Given the description of an element on the screen output the (x, y) to click on. 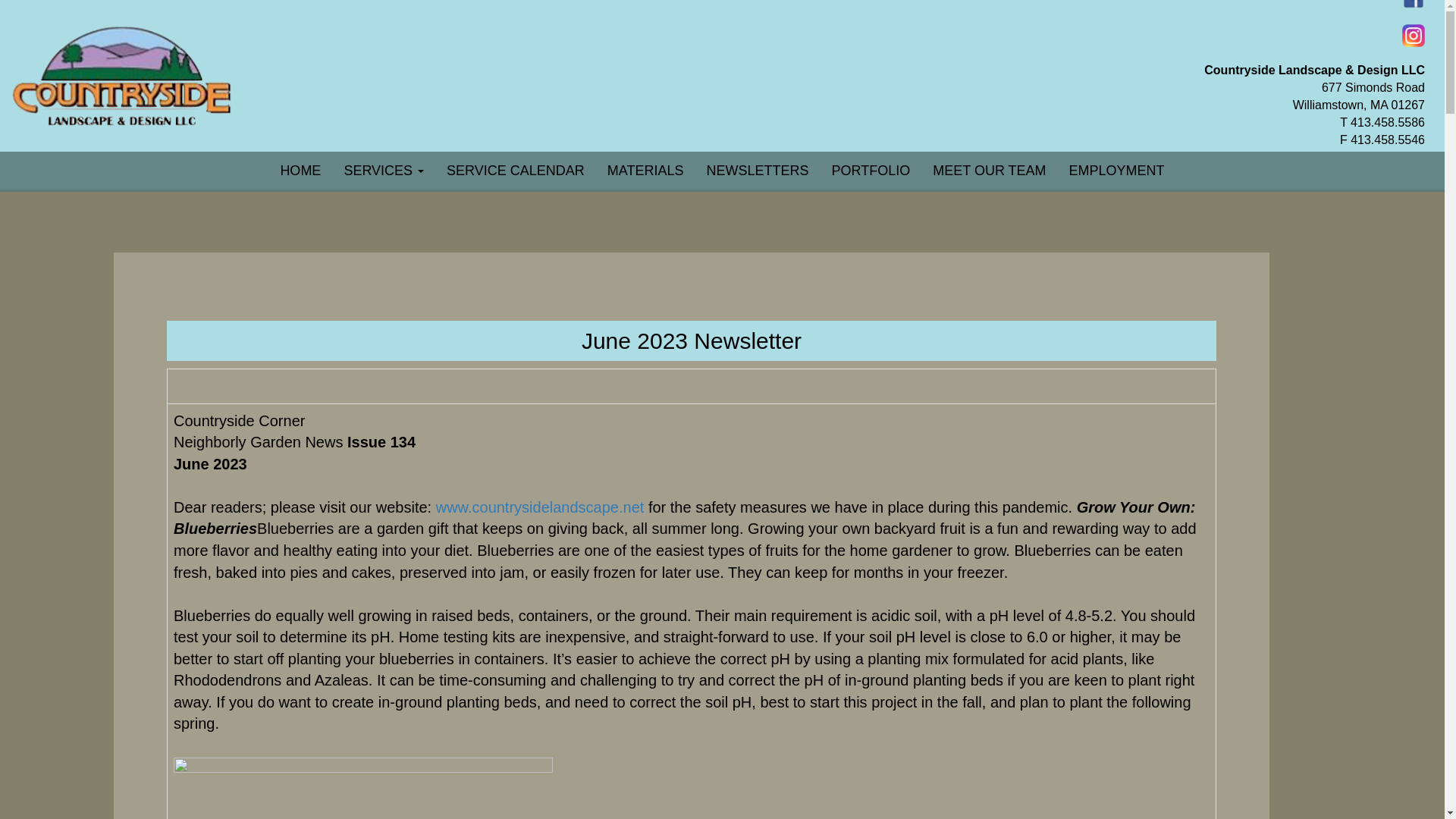
NEWSLETTERS (758, 170)
HOME (299, 170)
SERVICES (383, 170)
Home (299, 170)
Materials (645, 170)
Meet Our Team (989, 170)
www.countrysidelandscape.net (540, 506)
Service Calendar (515, 170)
Services (383, 170)
Portfolio (871, 170)
Newsletters (758, 170)
MATERIALS (645, 170)
SERVICE CALENDAR (515, 170)
June 2023 Newsletter (691, 340)
EMPLOYMENT (1117, 170)
